Given the description of an element on the screen output the (x, y) to click on. 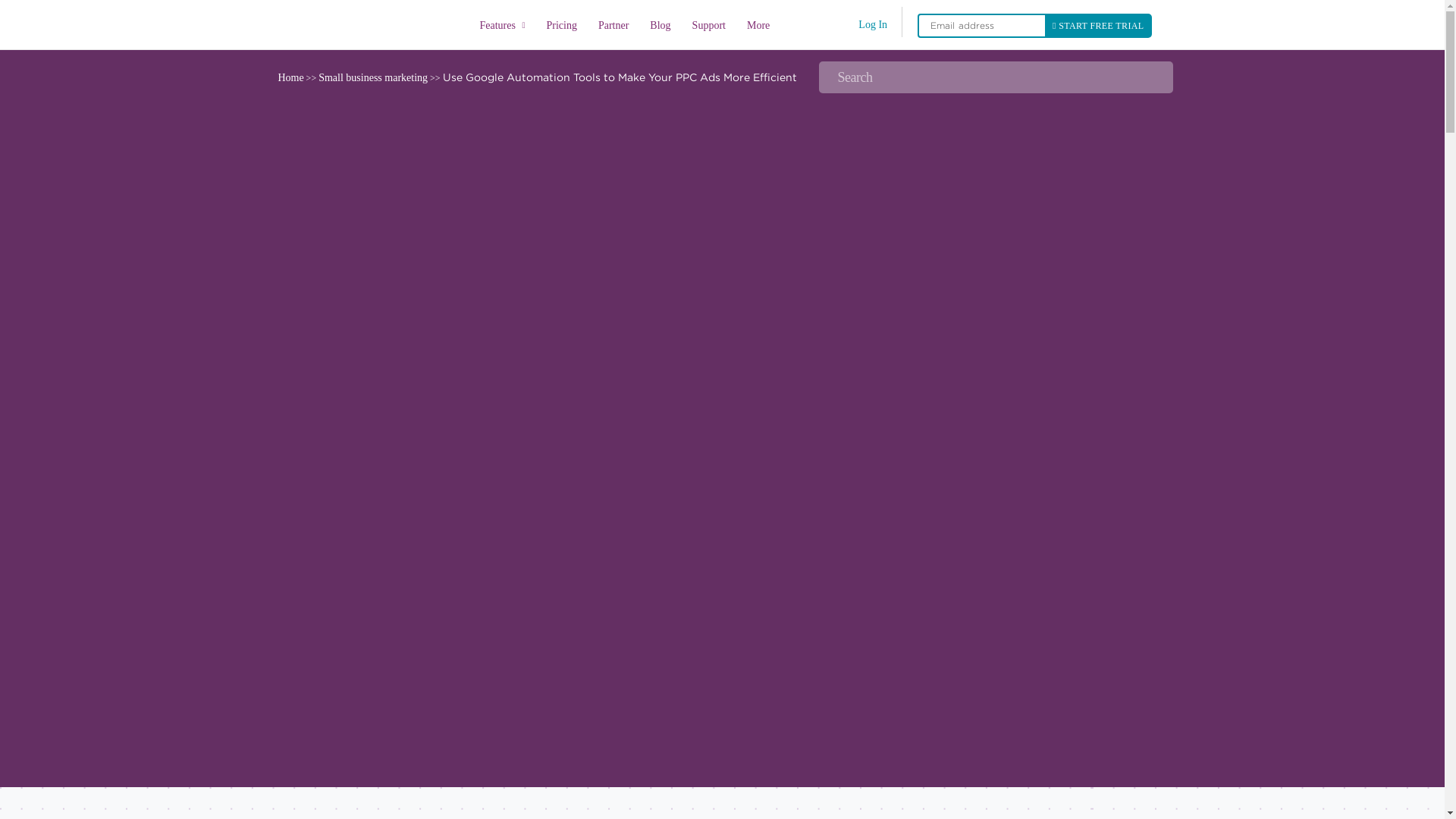
Support (708, 27)
Nav Sign Up Free (1098, 25)
Blog (660, 27)
Pricing (560, 27)
Log In (872, 24)
Home (290, 77)
Partner (613, 27)
Features (501, 24)
Log In (872, 24)
Home (372, 24)
